Given the description of an element on the screen output the (x, y) to click on. 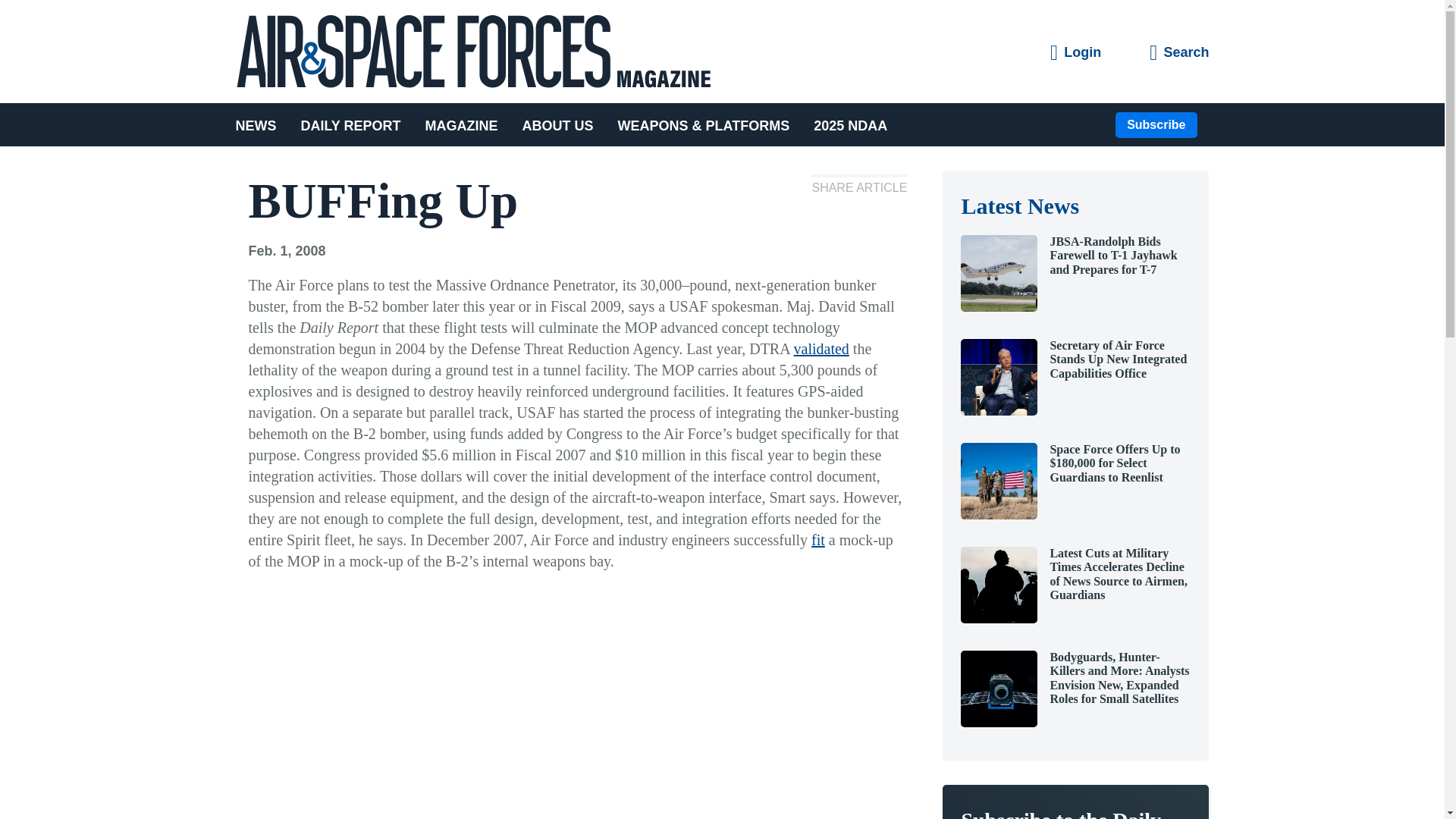
DAILY REPORT (350, 124)
ABOUT US (558, 124)
NEWS (261, 124)
Search (1179, 52)
Login (1074, 52)
MAGAZINE (462, 124)
